Given the description of an element on the screen output the (x, y) to click on. 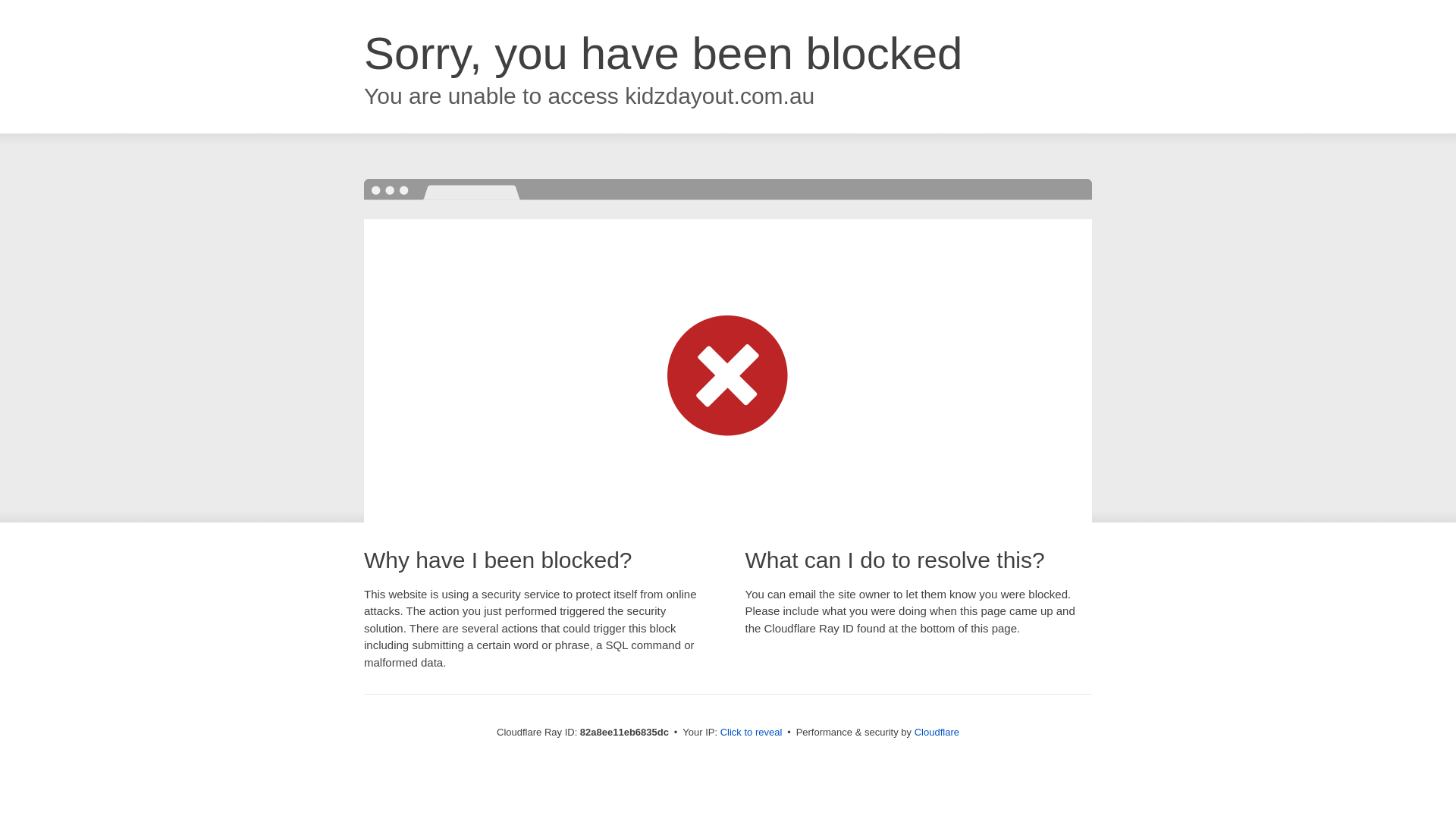
Click to reveal Element type: text (751, 732)
Cloudflare Element type: text (936, 731)
